Given the description of an element on the screen output the (x, y) to click on. 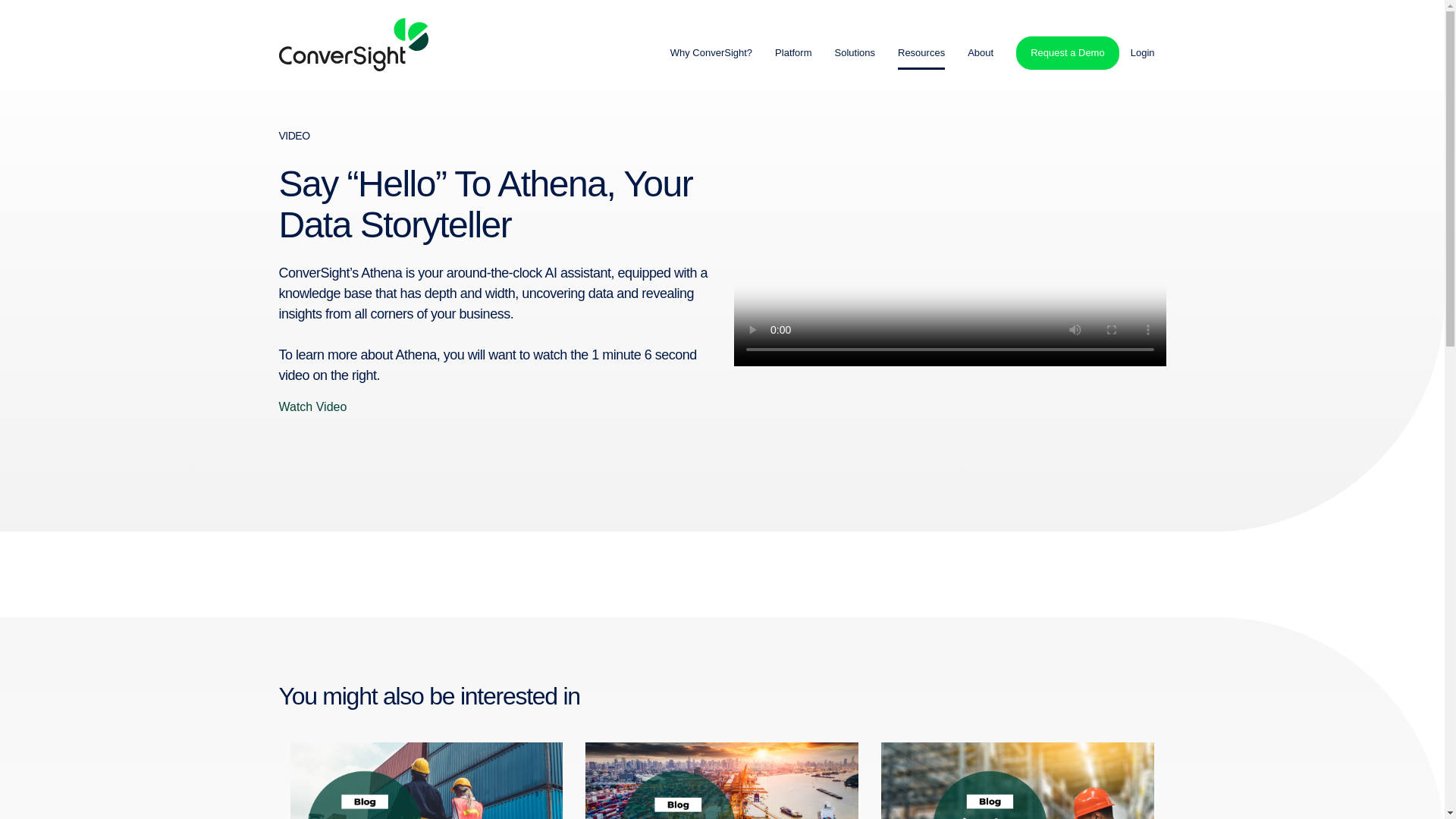
Why ConverSight? (710, 52)
ConverSight (353, 44)
9 (425, 780)
Solutions (854, 52)
Platform (792, 52)
Resources (921, 52)
7 (722, 780)
17 (1017, 780)
